Given the description of an element on the screen output the (x, y) to click on. 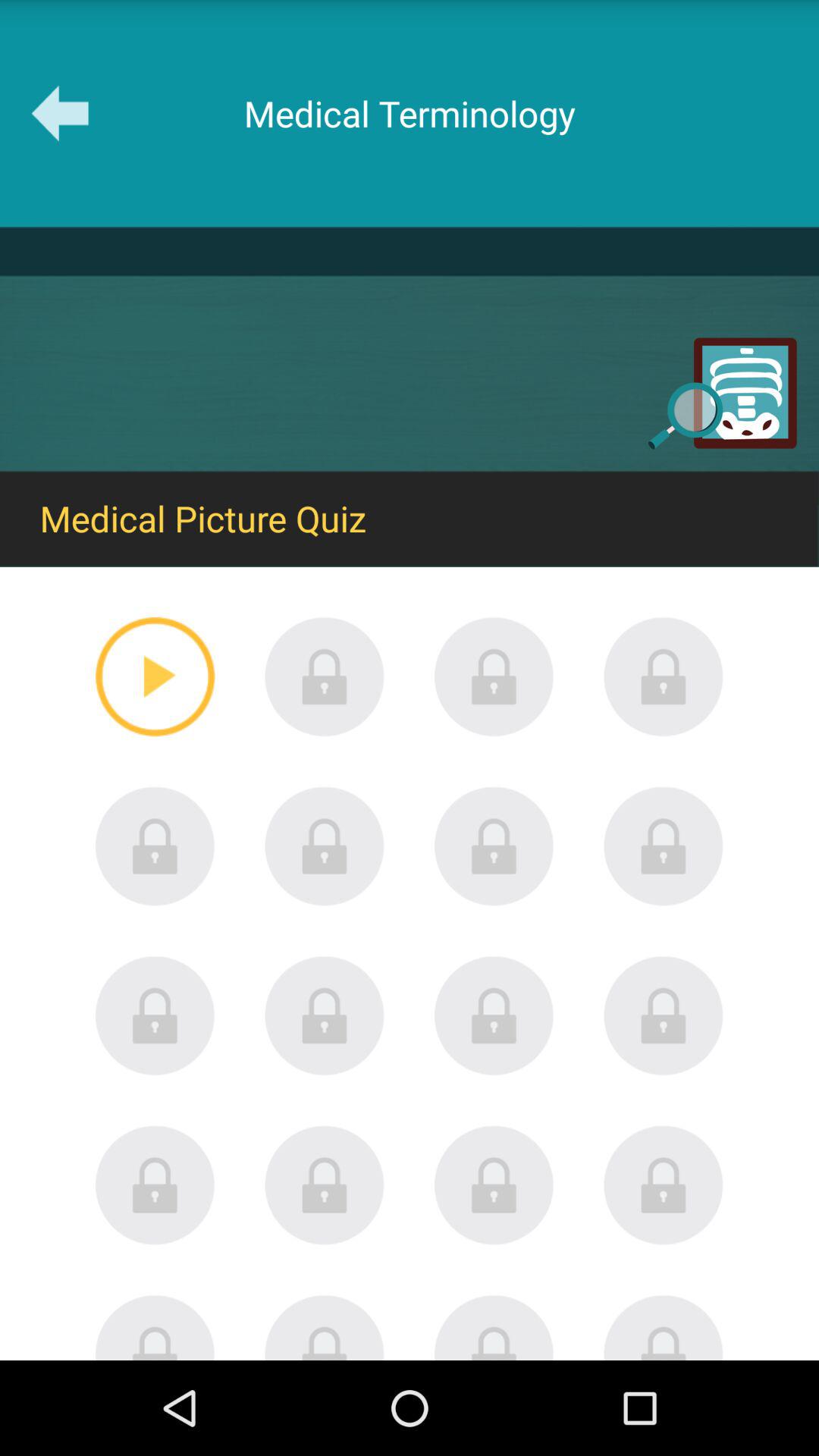
secured link (493, 846)
